Given the description of an element on the screen output the (x, y) to click on. 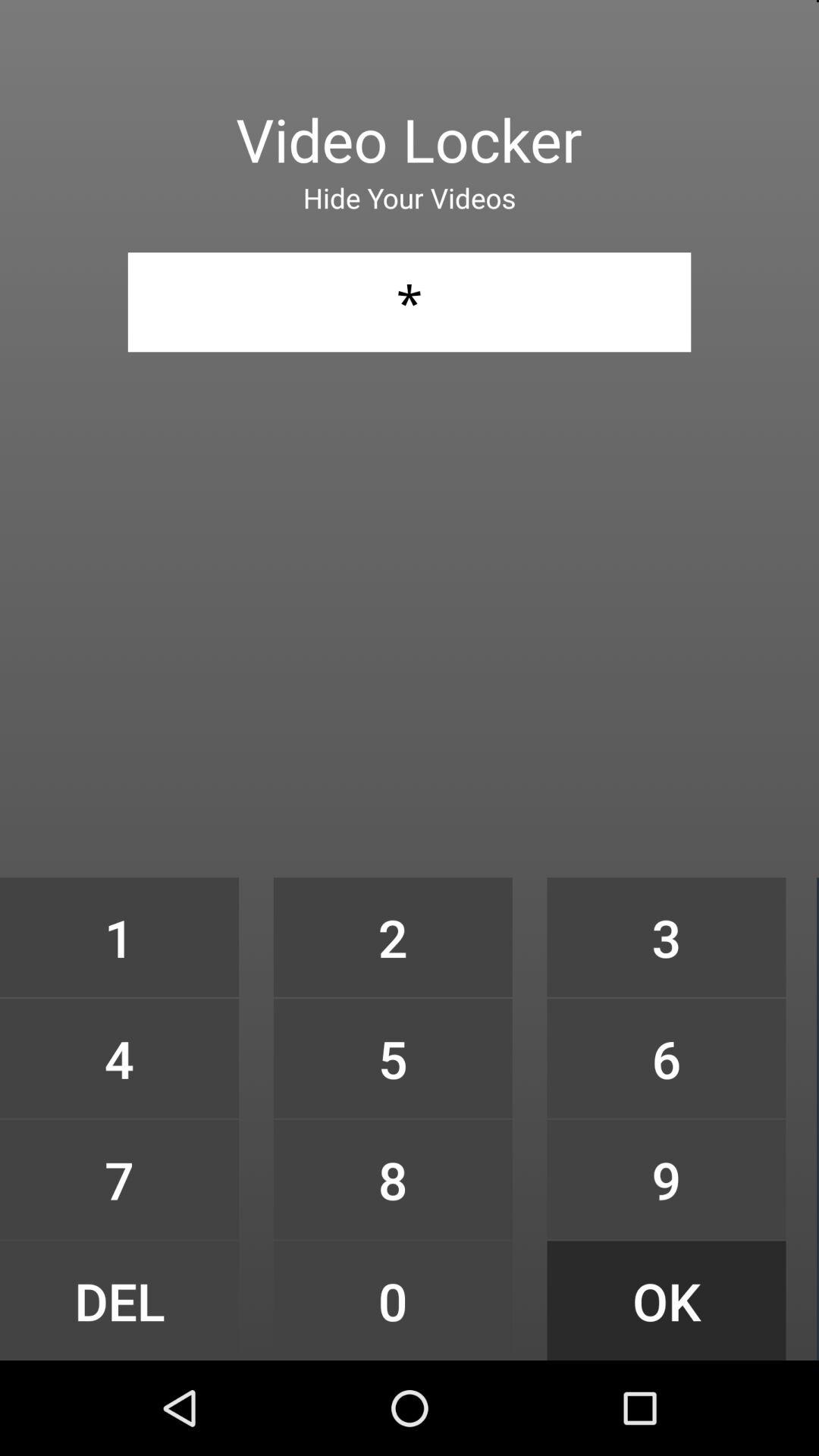
click icon next to the 4 (392, 1179)
